Given the description of an element on the screen output the (x, y) to click on. 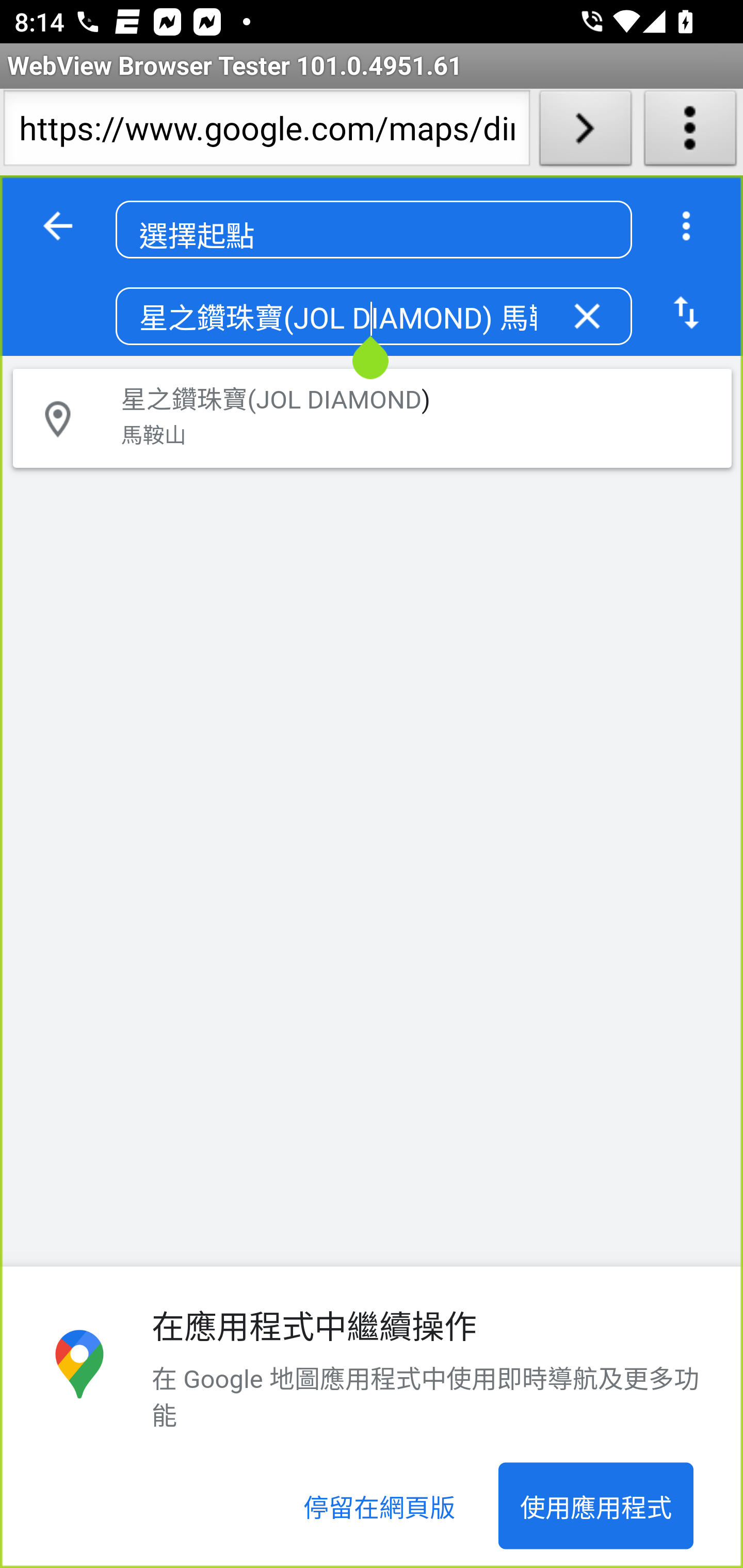
Load URL (585, 132)
About WebView (690, 132)
返回 (58, 226)
更多選項 (686, 226)
清除 (586, 317)
將起點和終點對調 (686, 313)
星之鑽珠寶(JOL DIAMOND) 馬鞍山馬鞍山廣場265C鋪, 沙田 (337, 316)
星之鑽珠寶(JOL DIAMOND) 馬鞍山 (372, 416)
星之鑽珠寶(JOL DIAMOND) 馬鞍山 (353, 416)
停留在網頁版 (379, 1505)
使用應用程式 (595, 1505)
